Given the description of an element on the screen output the (x, y) to click on. 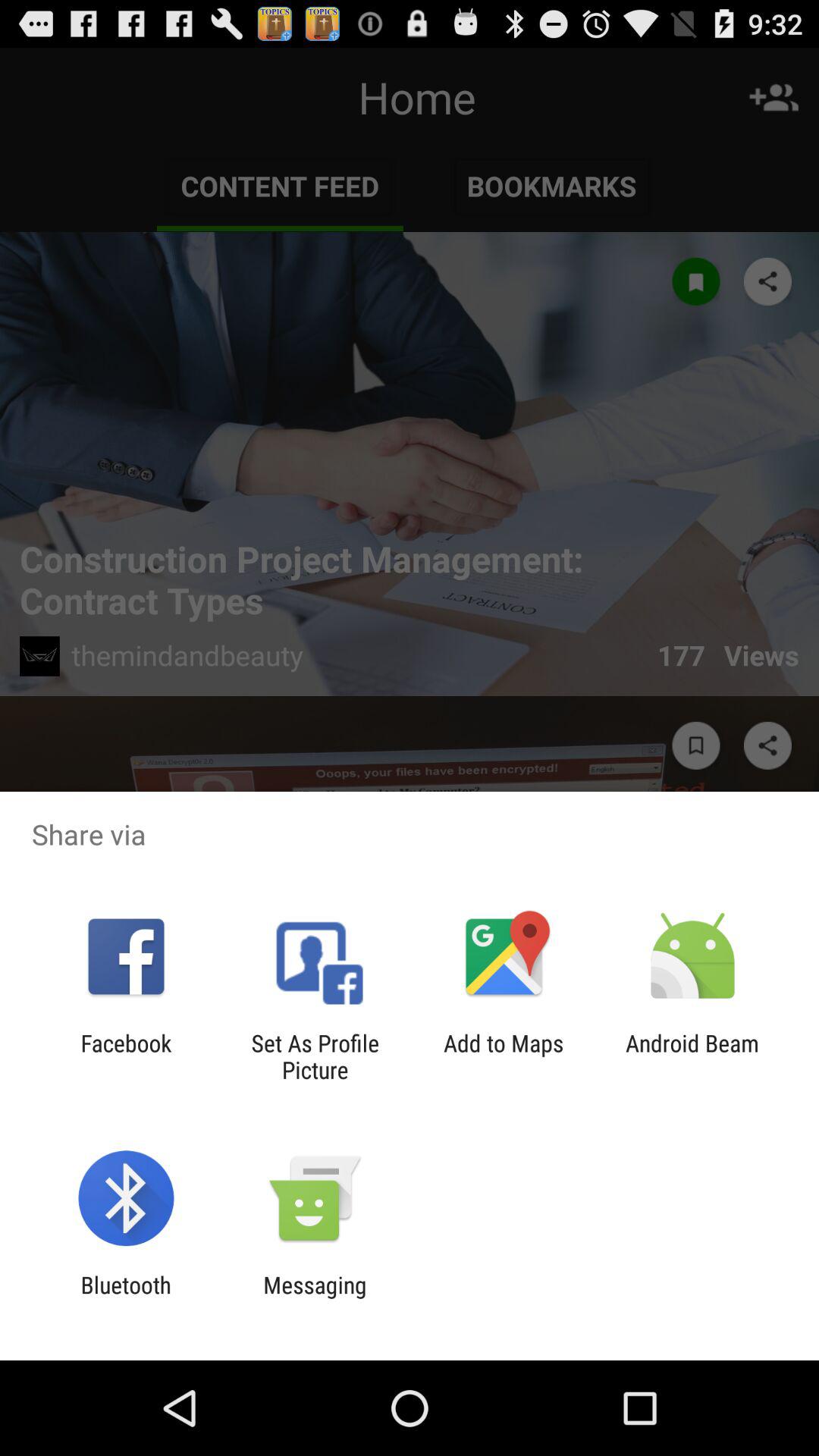
turn off the app next to add to maps app (692, 1056)
